Given the description of an element on the screen output the (x, y) to click on. 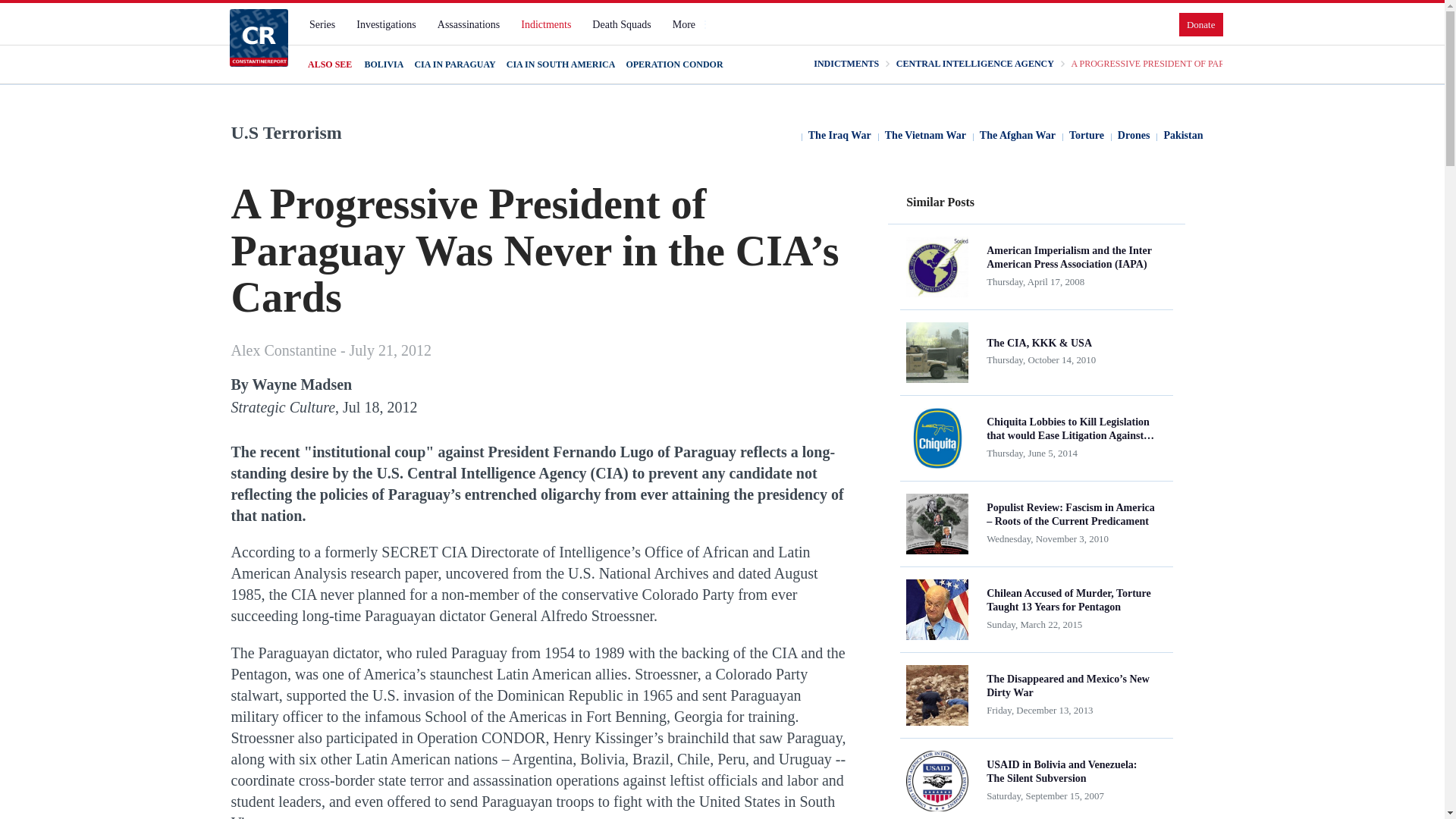
Investigations (386, 23)
Constantine Report (257, 37)
Indictments (545, 23)
CIA IN SOUTH AMERICA (560, 64)
More (690, 24)
CIA IN PARAGUAY (454, 64)
Series (321, 23)
Death Squads (621, 23)
BOLIVIA (383, 64)
CENTRAL INTELLIGENCE AGENCY (975, 63)
OPERATION CONDOR (674, 64)
INDICTMENTS (846, 63)
Assassinations (467, 23)
Donate (1201, 24)
